Given the description of an element on the screen output the (x, y) to click on. 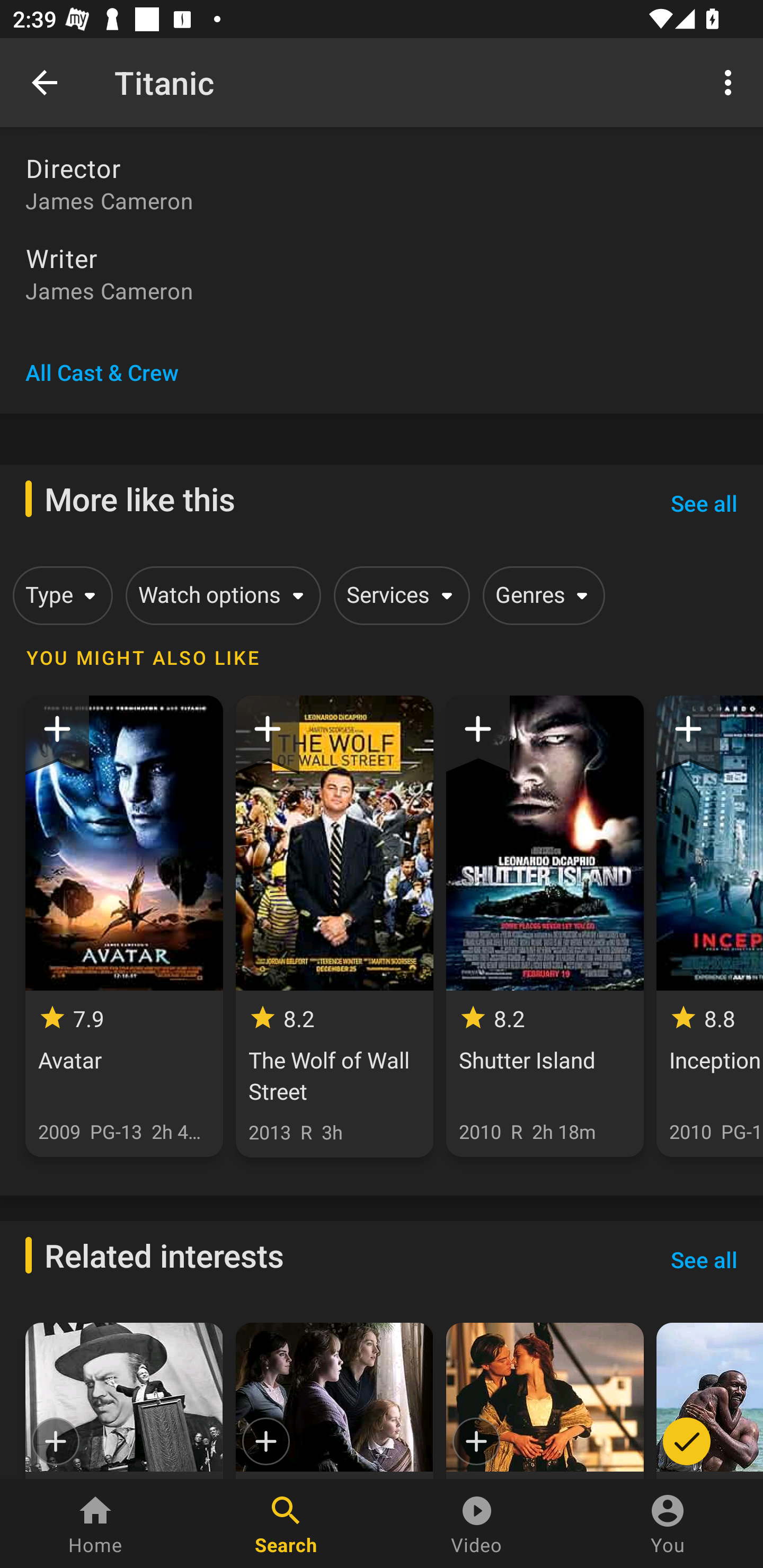
More options (731, 81)
James Cameron (381, 200)
James Cameron (381, 290)
All Cast & Crew (101, 372)
See all See all More like this (703, 502)
Type (59, 595)
Watch options (219, 595)
Services (398, 595)
Genres (540, 595)
7.9 Avatar 2009  PG-13  2h 42m (123, 926)
8.2 The Wolf of Wall Street 2013  R  3h (334, 926)
8.2 Shutter Island 2010  R  2h 18m (544, 926)
8.8 Inception 2010  PG-13  2h 28m (709, 926)
See all See all Related interests (703, 1259)
Epic (123, 1400)
Period Drama (334, 1400)
Romantic Epic (544, 1400)
Drama (709, 1400)
Home (95, 1523)
Video (476, 1523)
You (667, 1523)
